Given the description of an element on the screen output the (x, y) to click on. 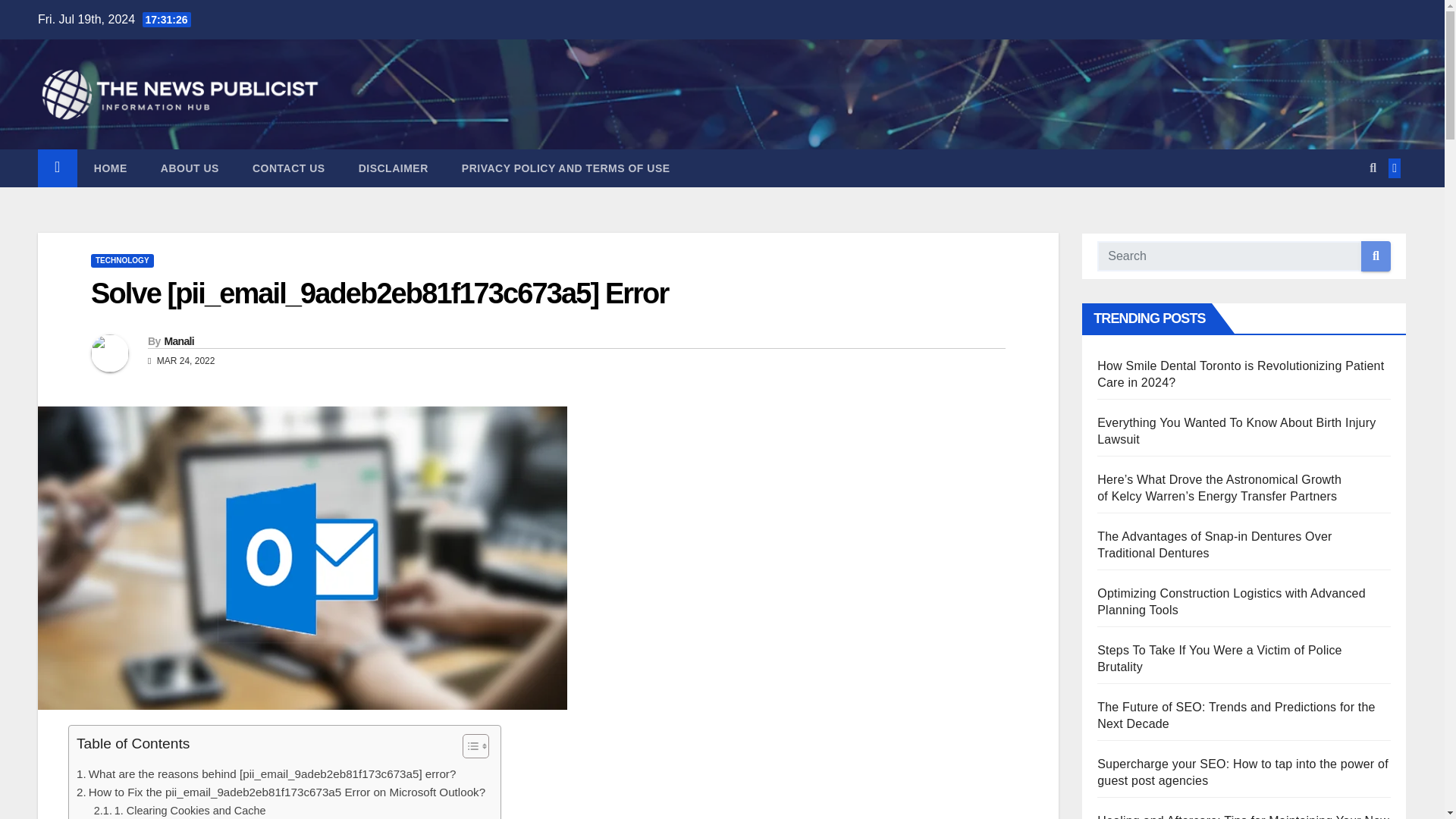
HOME (110, 168)
Disclaimer (393, 168)
About Us (189, 168)
Contact Us (288, 168)
PRIVACY POLICY AND TERMS OF USE (566, 168)
1. Clearing Cookies and Cache (180, 810)
Home (110, 168)
ABOUT US (189, 168)
Privacy Policy and Terms of Use (566, 168)
TECHNOLOGY (122, 260)
CONTACT US (288, 168)
DISCLAIMER (393, 168)
Manali (178, 340)
